Given the description of an element on the screen output the (x, y) to click on. 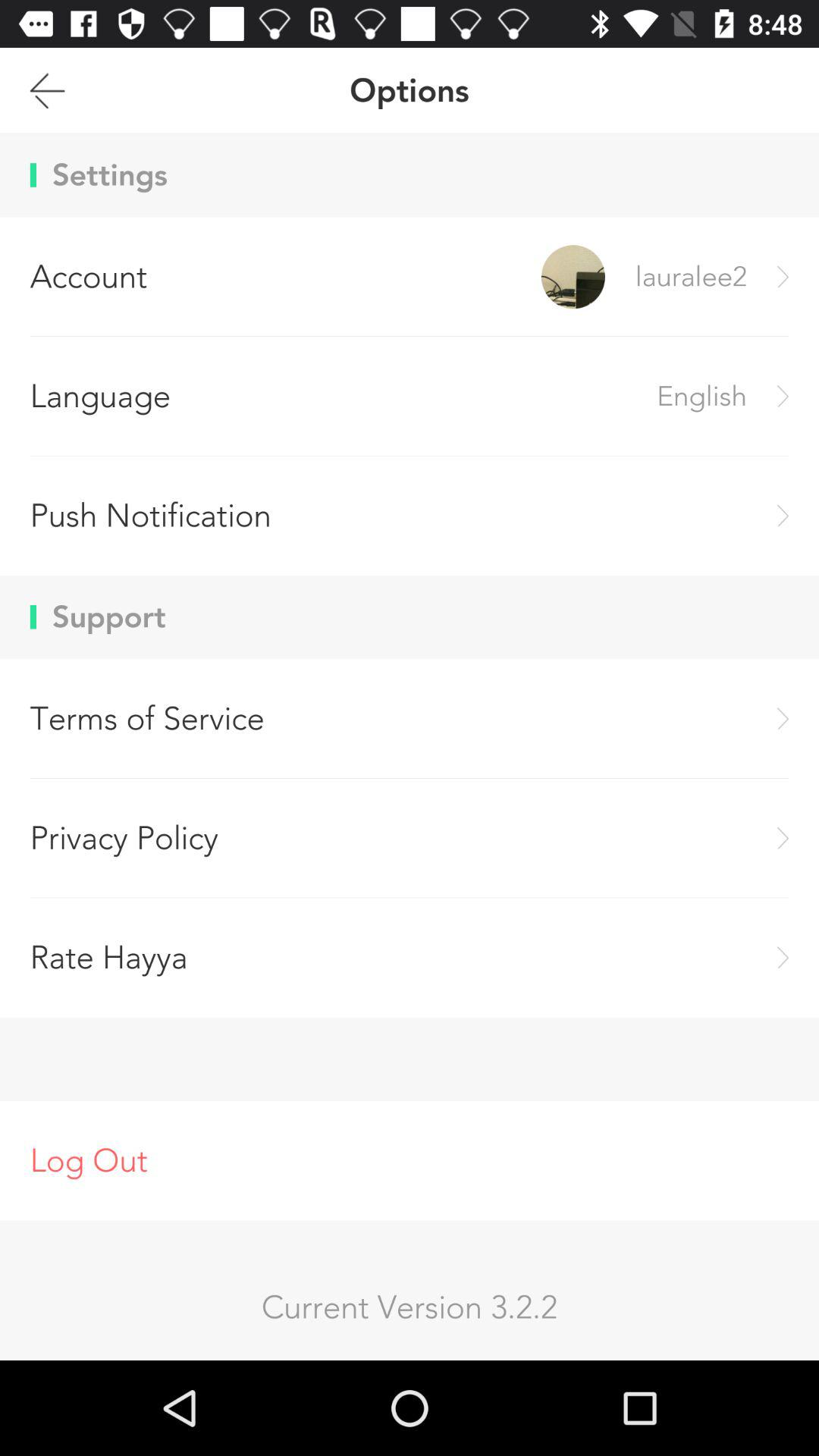
turn on icon next to options icon (47, 90)
